Given the description of an element on the screen output the (x, y) to click on. 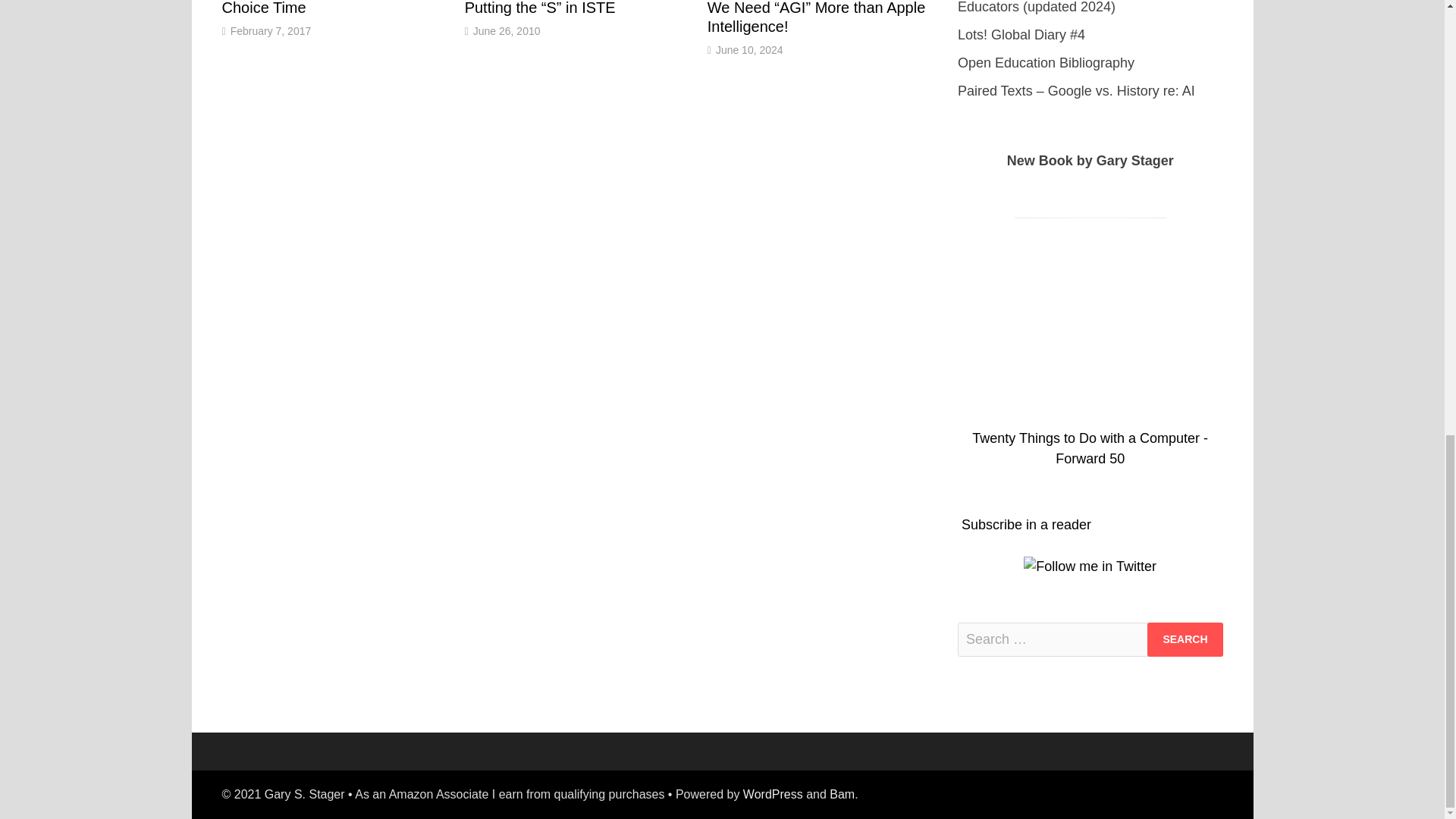
Choice Time (263, 7)
Search (1185, 639)
Search (1185, 639)
